Given the description of an element on the screen output the (x, y) to click on. 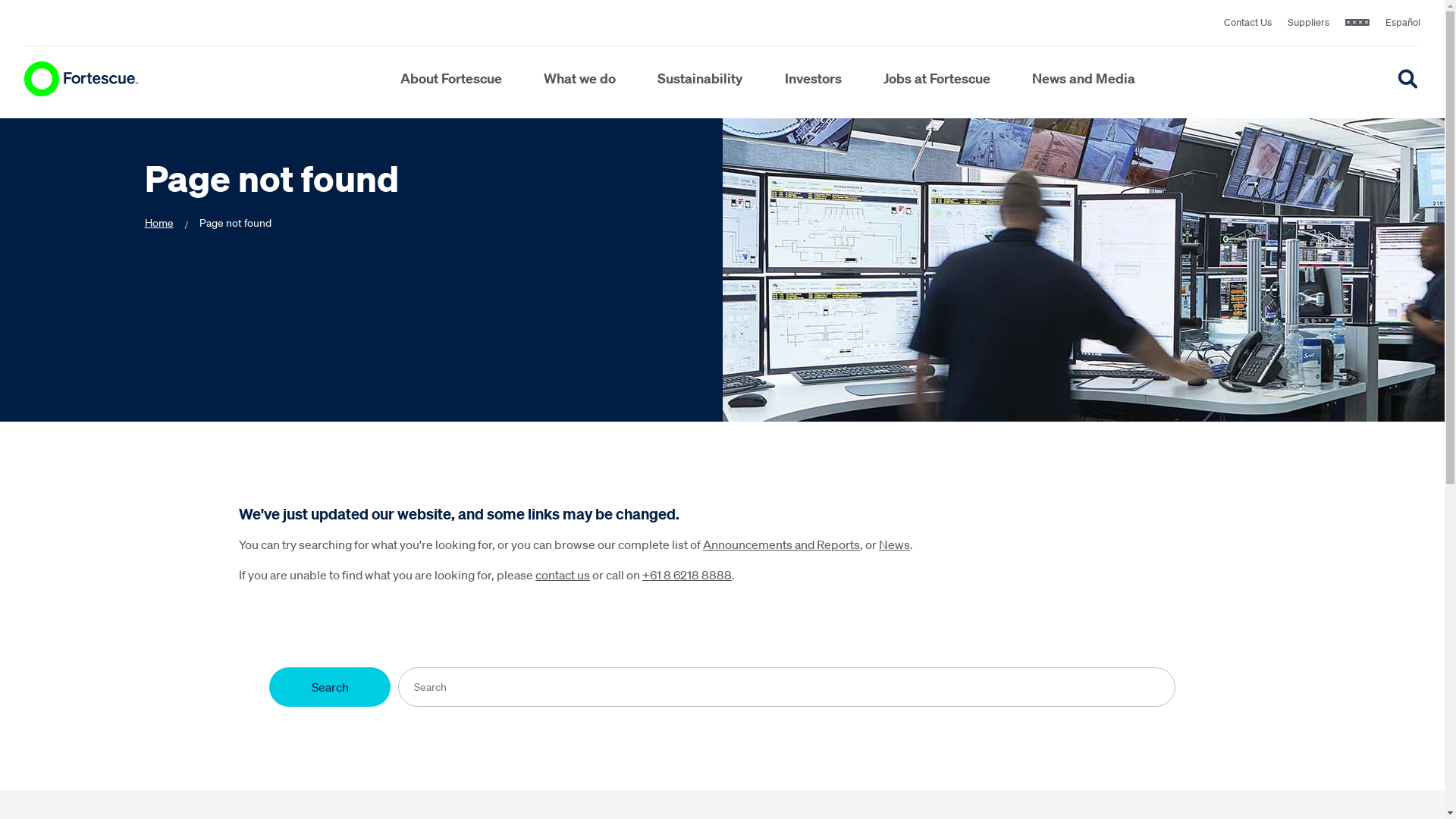
News Element type: text (894, 544)
Sustainability Element type: text (699, 78)
+61 8 6218 8888 Element type: text (686, 574)
Home Element type: text (158, 223)
Suppliers Element type: text (1308, 24)
Jobs at Fortescue Element type: text (936, 78)
What we do Element type: text (579, 78)
Announcements and Reports Element type: text (780, 544)
Search input Element type: hover (786, 686)
Contact Us Element type: text (1247, 24)
Page not found Element type: text (234, 222)
About Fortescue Element type: text (451, 78)
Investors Element type: text (812, 78)
contact us Element type: text (562, 574)
News and Media Element type: text (1083, 78)
Search Element type: text (329, 686)
